Given the description of an element on the screen output the (x, y) to click on. 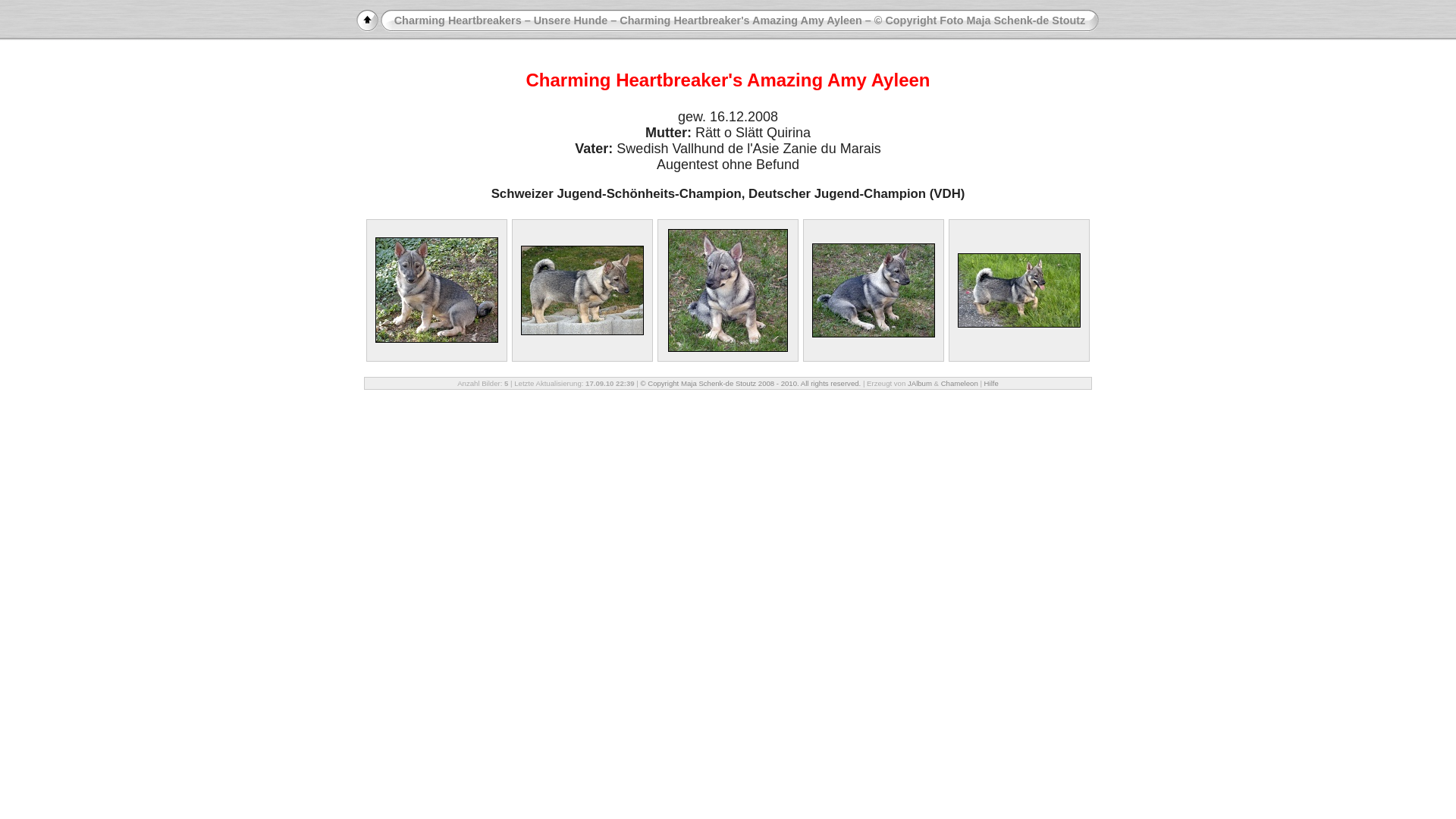
 DSCN2768_crop.jpg  Element type: hover (1018, 290)
 Eine Ebene nach oben  Element type: hover (367, 20)
Hilfe Element type: text (991, 383)
JAlbum Element type: text (919, 383)
 DSCN1933_crop.jpg  Element type: hover (727, 290)
 DSCN1930_crop.jpg  Element type: hover (581, 290)
 DSCN1909_crop.jpg  Element type: hover (436, 289)
 DSCN1934_crop.jpg  Element type: hover (873, 290)
Chameleon Element type: text (959, 383)
